Given the description of an element on the screen output the (x, y) to click on. 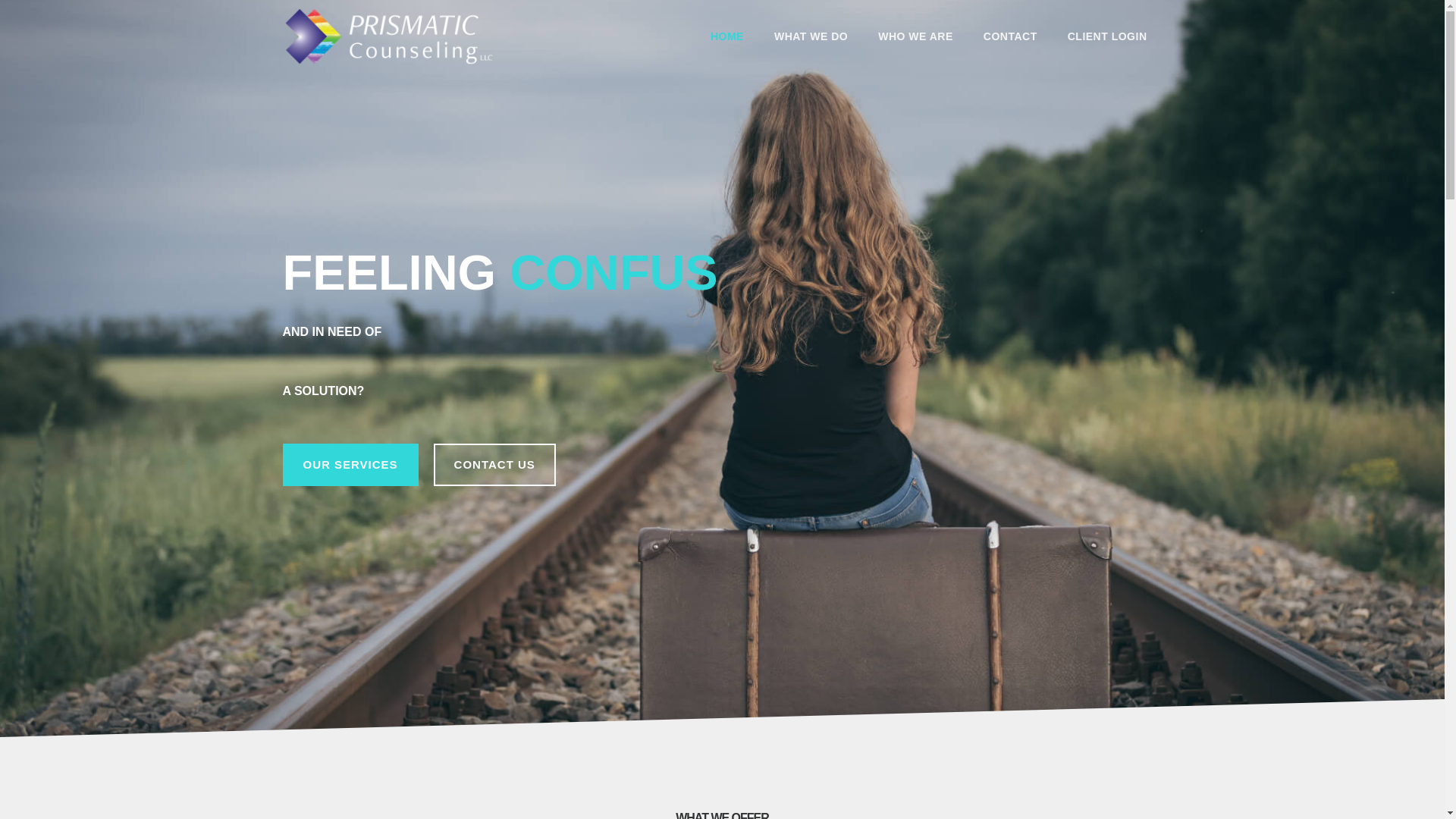
Contact (1010, 36)
WHAT WE DO (810, 36)
HOME (726, 36)
CONTACT US (494, 464)
Who We Are (915, 36)
Client Login (1106, 36)
OUR SERVICES (349, 464)
CLIENT LOGIN (1106, 36)
CONTACT (1010, 36)
What We Do (810, 36)
Home (726, 36)
WHO WE ARE (915, 36)
